Given the description of an element on the screen output the (x, y) to click on. 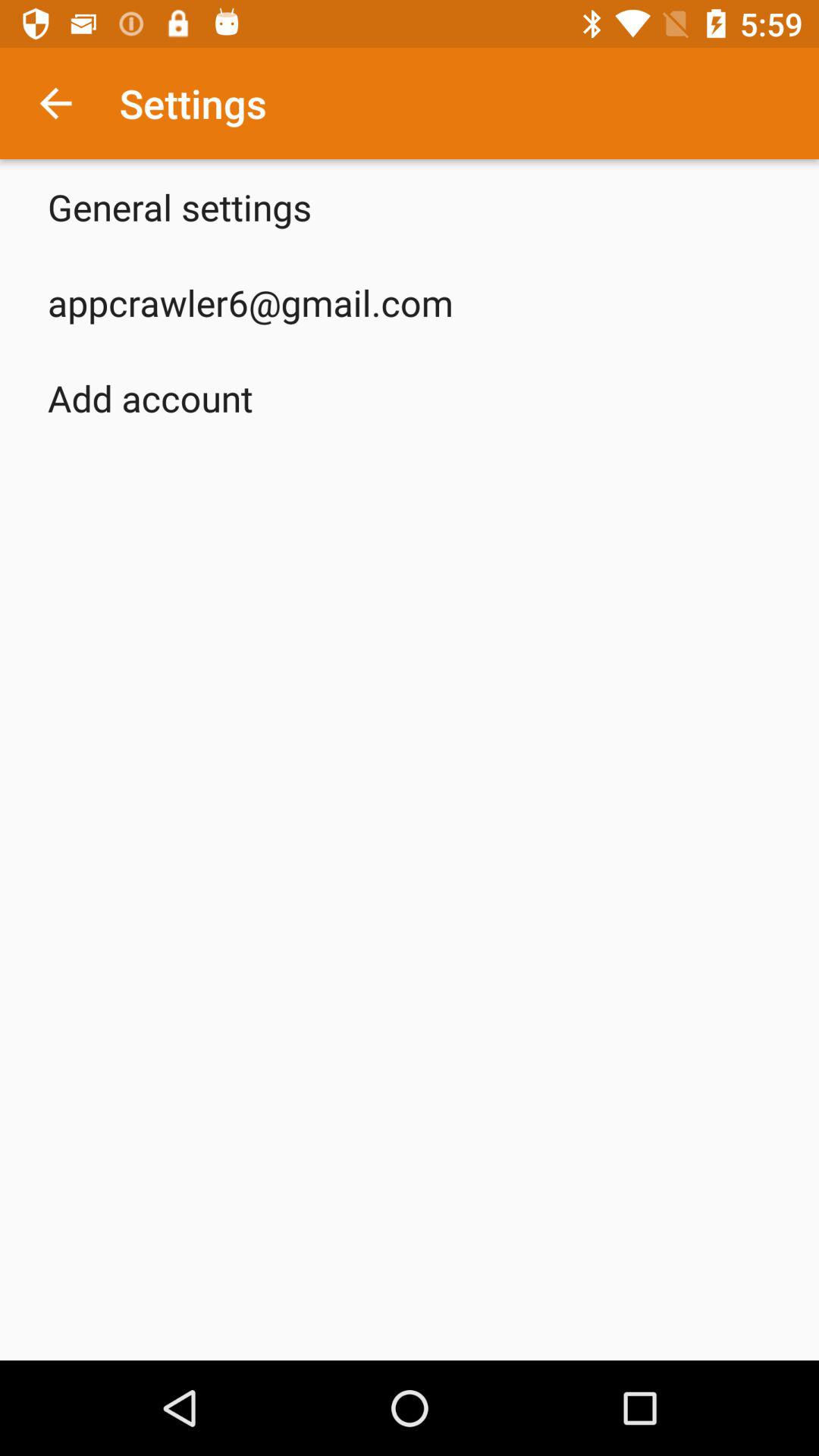
launch the app above the appcrawler6@gmail.com item (179, 206)
